Given the description of an element on the screen output the (x, y) to click on. 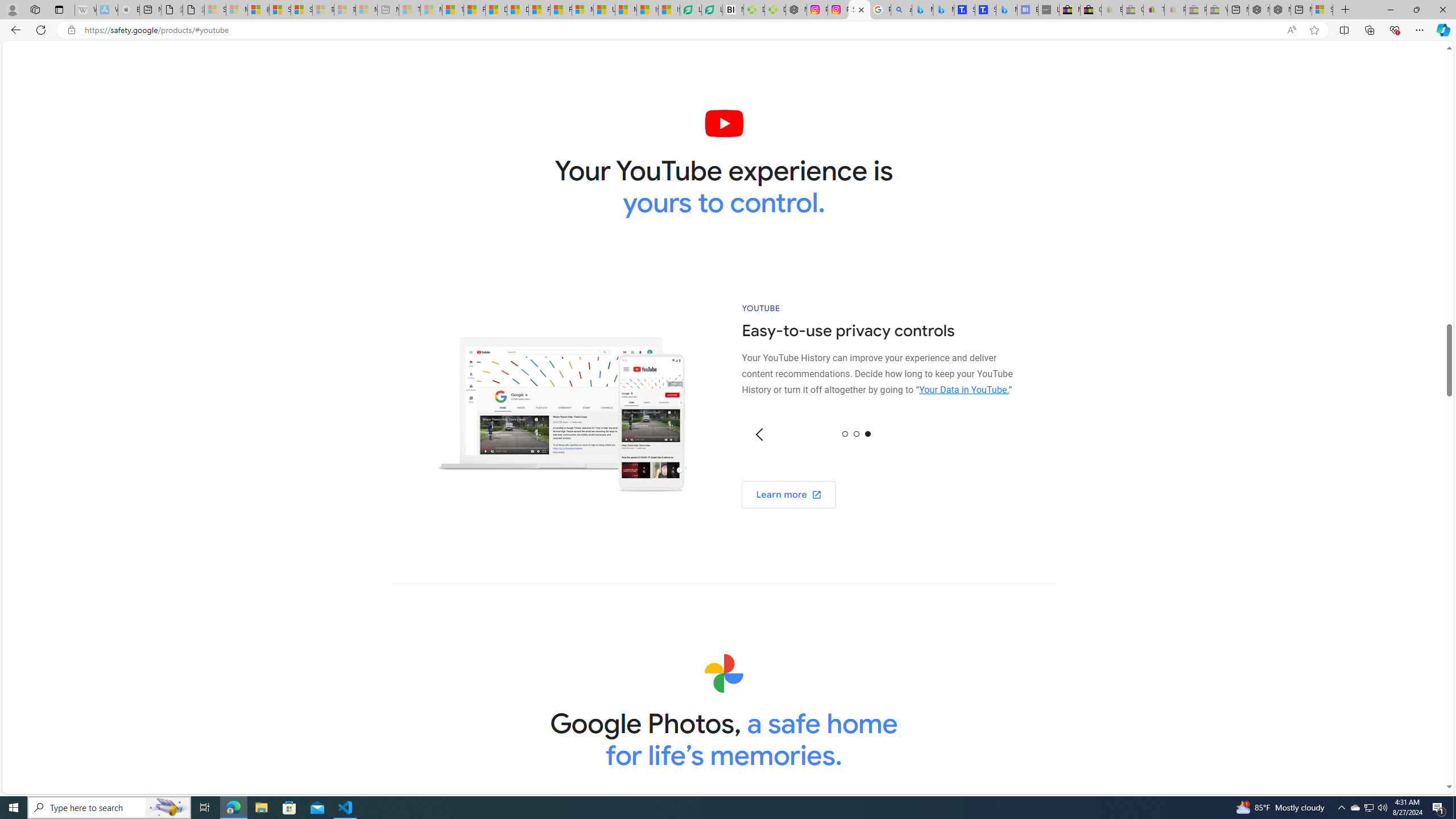
Microsoft Services Agreement - Sleeping (236, 9)
0 (845, 433)
A laptop and phone featuring YouTube (561, 405)
Press Room - eBay Inc. - Sleeping (1195, 9)
